Given the description of an element on the screen output the (x, y) to click on. 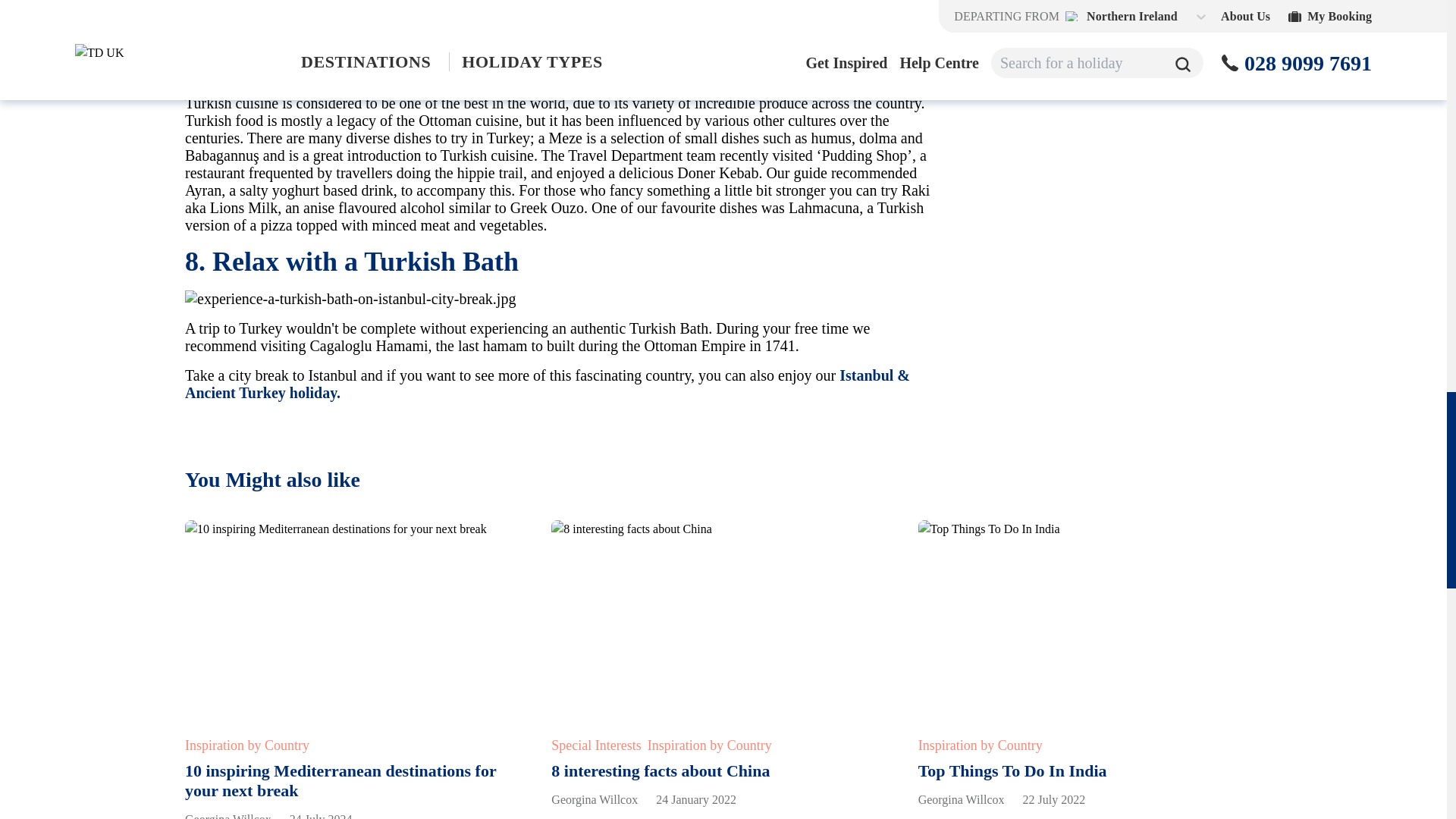
8 interesting facts about China (660, 770)
Inspiration by Country (980, 745)
Special Interests (595, 745)
Inspiration by Country (709, 745)
Inspiration by Country (246, 745)
10 inspiring Mediterranean destinations for your next break (340, 780)
